Given the description of an element on the screen output the (x, y) to click on. 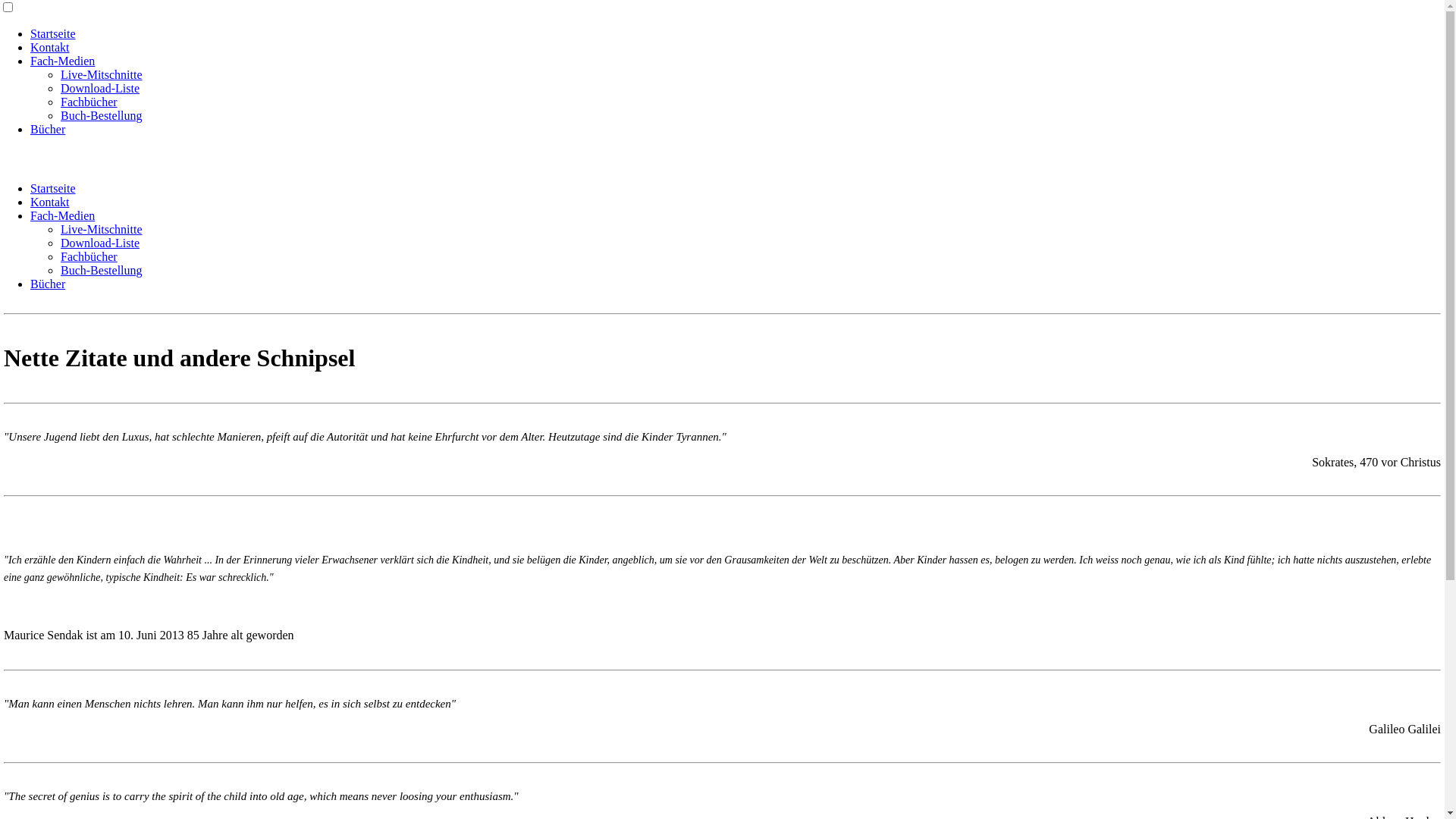
Live-Mitschnitte Element type: text (101, 228)
Fach-Medien Element type: text (62, 60)
Buch-Bestellung Element type: text (101, 115)
Download-Liste Element type: text (99, 242)
Kontakt Element type: text (49, 201)
Startseite Element type: text (52, 33)
Download-Liste Element type: text (99, 87)
Kontakt Element type: text (49, 46)
Fach-Medien Element type: text (62, 215)
Startseite Element type: text (52, 188)
Live-Mitschnitte Element type: text (101, 74)
Buch-Bestellung Element type: text (101, 269)
